Given the description of an element on the screen output the (x, y) to click on. 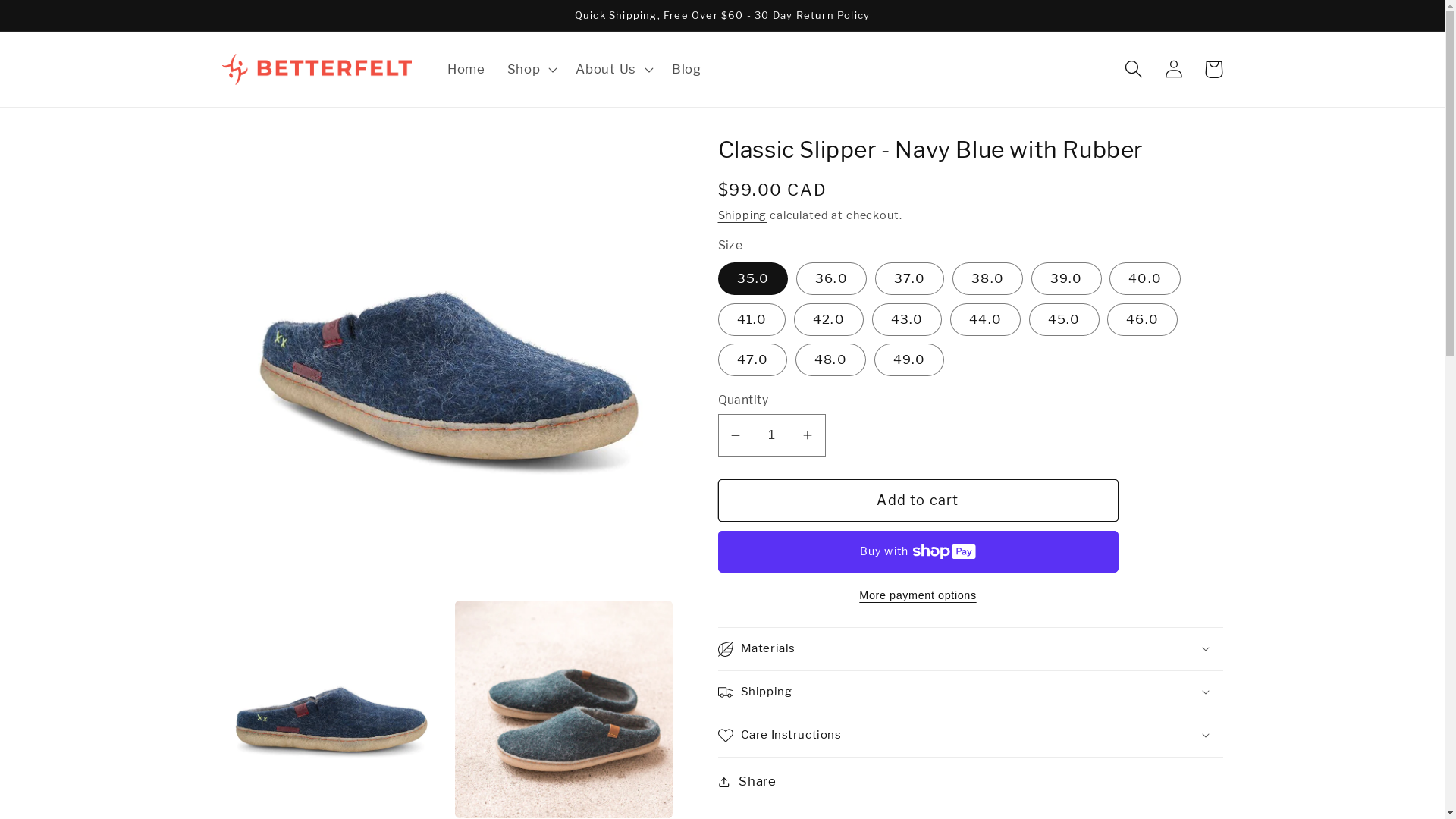
Add to cart Element type: text (917, 500)
Cart Element type: text (1213, 69)
Blog Element type: text (686, 68)
Skip to product information Element type: text (276, 155)
Log in Element type: text (1173, 69)
Home Element type: text (466, 68)
More payment options Element type: text (917, 594)
Shipping Element type: text (741, 214)
